Given the description of an element on the screen output the (x, y) to click on. 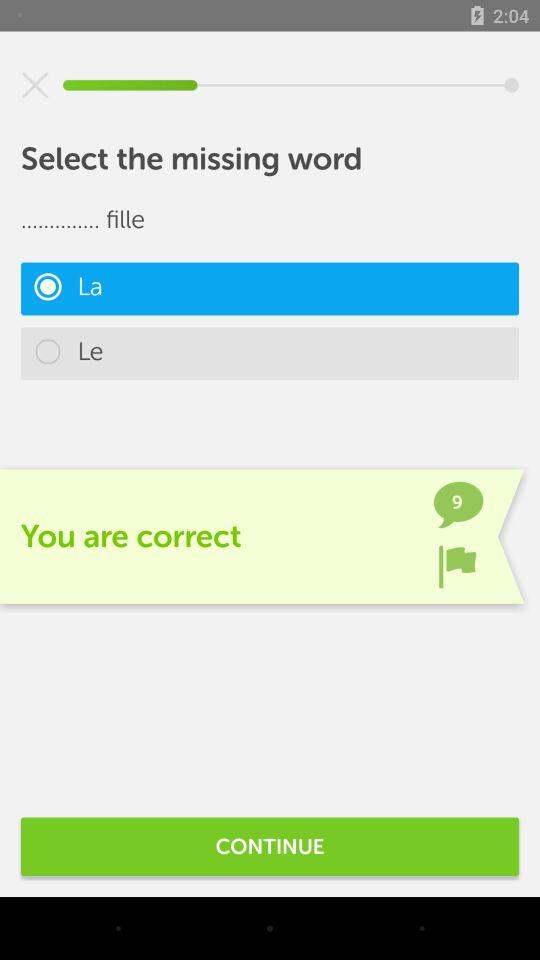
tap the item above the le icon (270, 288)
